Given the description of an element on the screen output the (x, y) to click on. 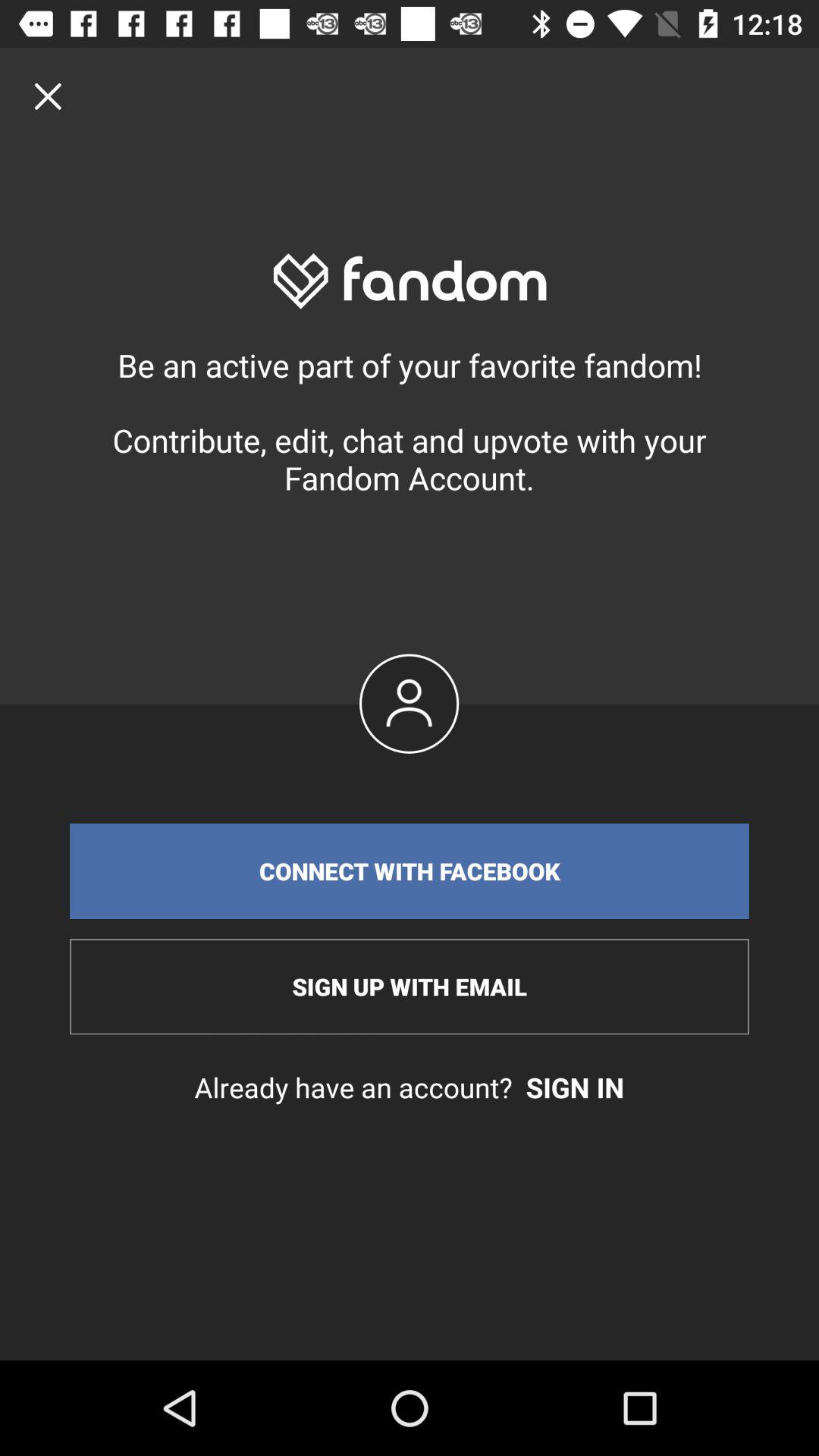
tap icon below sign up with icon (409, 1087)
